Given the description of an element on the screen output the (x, y) to click on. 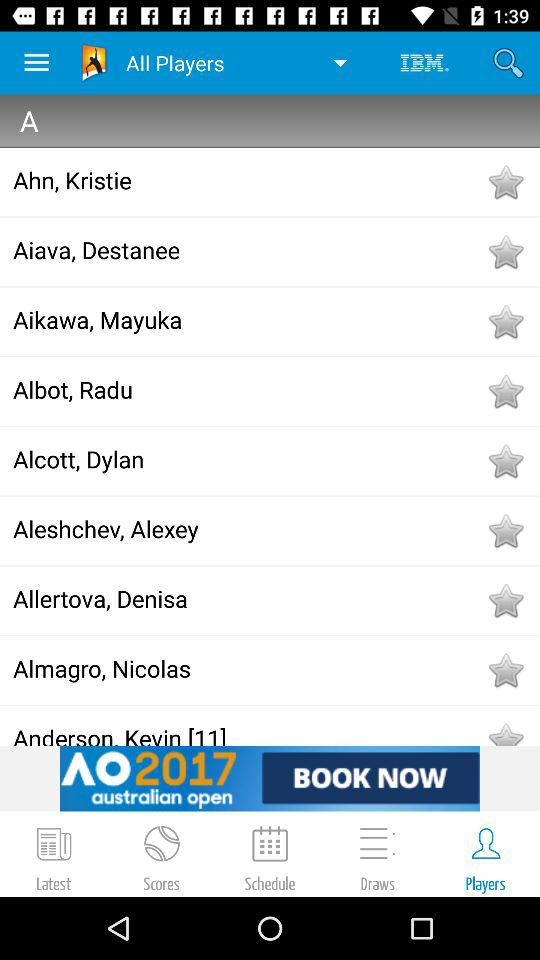
jump until almagro, nicolas icon (248, 668)
